Given the description of an element on the screen output the (x, y) to click on. 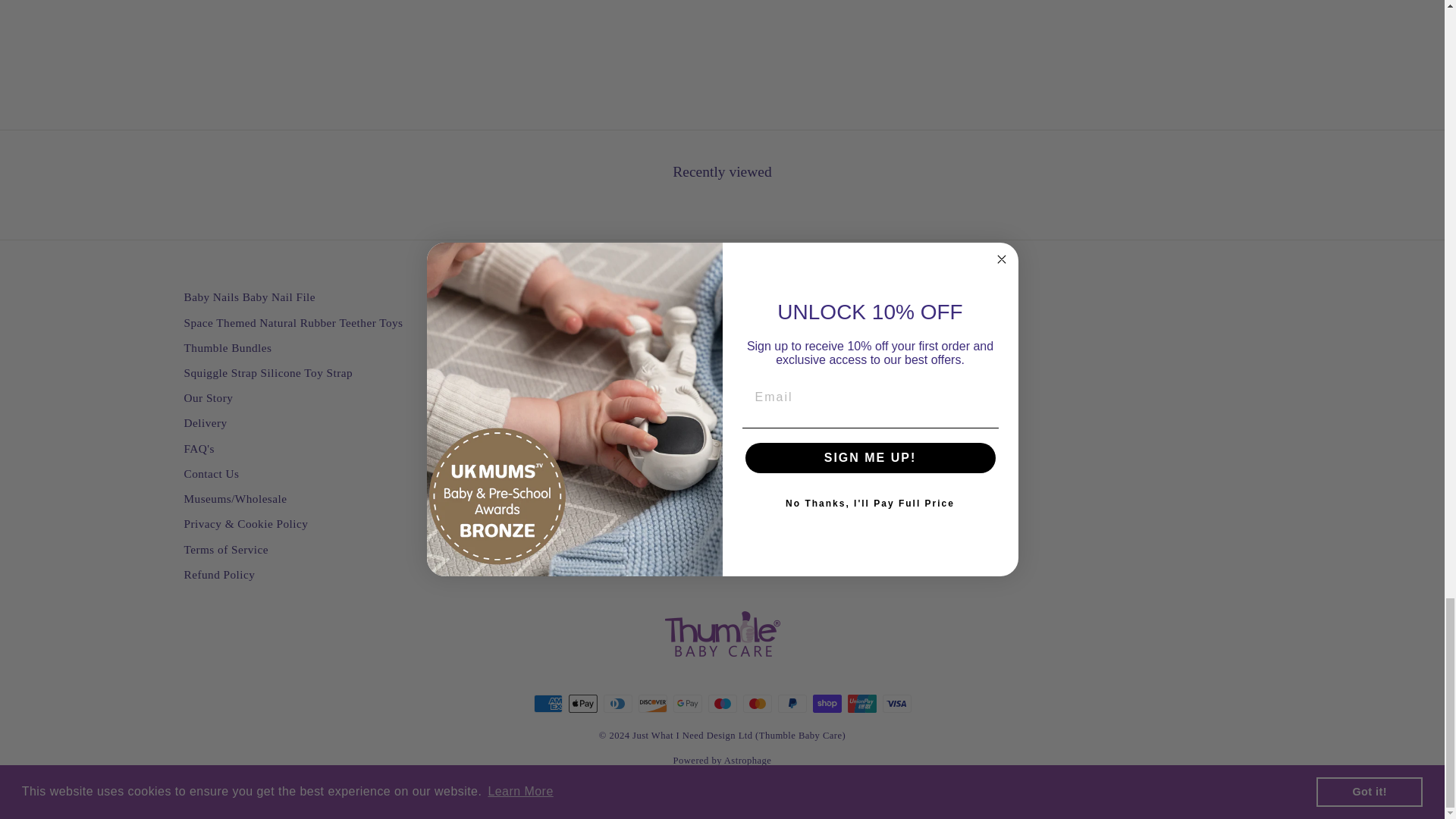
Visa (896, 703)
Union Pay (861, 703)
Maestro (721, 703)
American Express (548, 703)
Discover (652, 703)
PayPal (791, 703)
Apple Pay (582, 703)
Shop Pay (826, 703)
Thumble Baby Care on Facebook (485, 411)
Mastercard (756, 703)
Thumble Baby Care on Twitter (514, 411)
Google Pay (686, 703)
Thumble Baby Care on Instagram (455, 411)
Diners Club (617, 703)
